Given the description of an element on the screen output the (x, y) to click on. 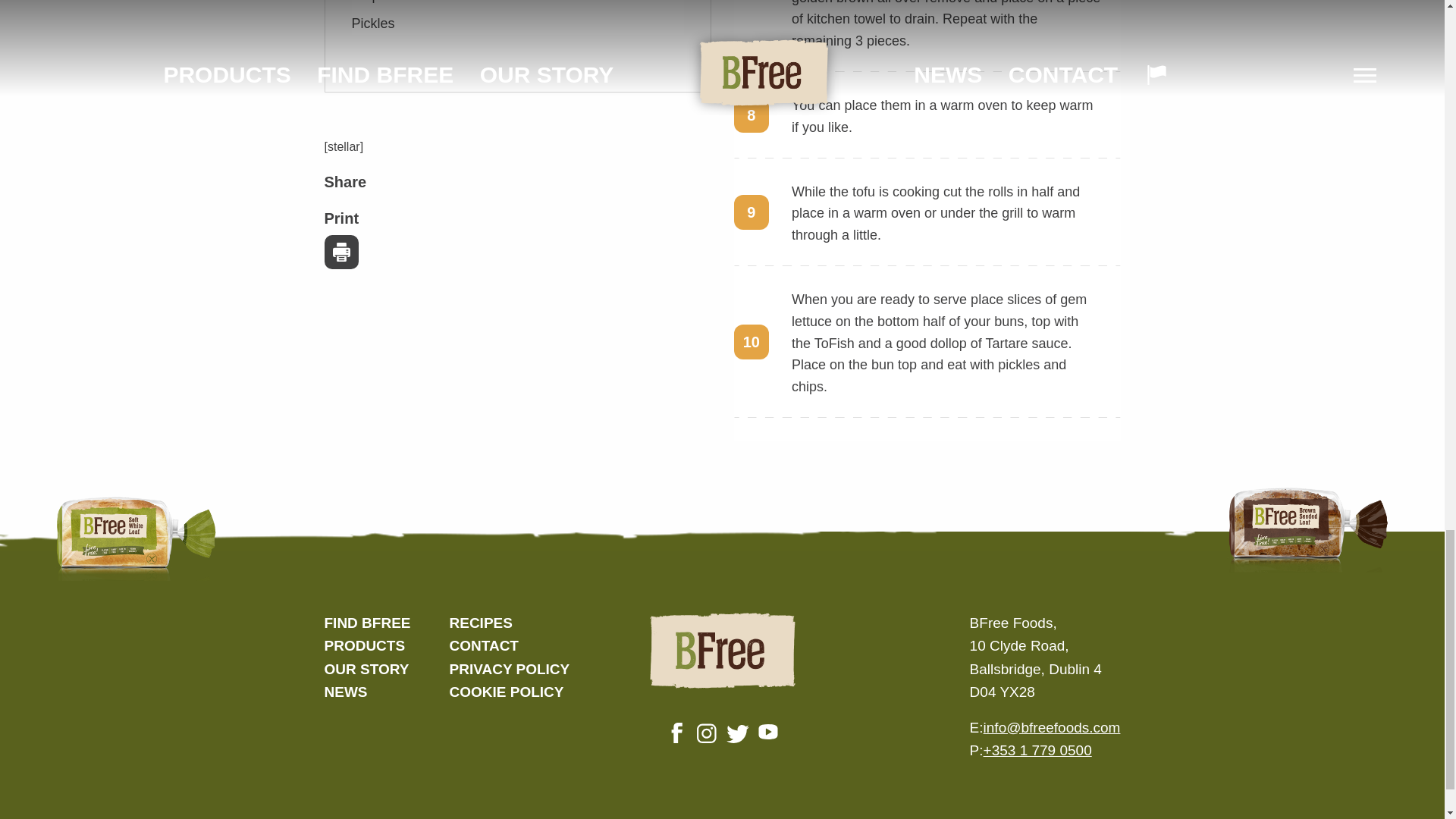
RECIPES (480, 622)
NEWS (346, 691)
COOKIE POLICY (505, 691)
PRIVACY POLICY (508, 668)
PRODUCTS (365, 645)
FIND BFREE (367, 622)
CONTACT (483, 645)
OUR STORY (366, 668)
